Given the description of an element on the screen output the (x, y) to click on. 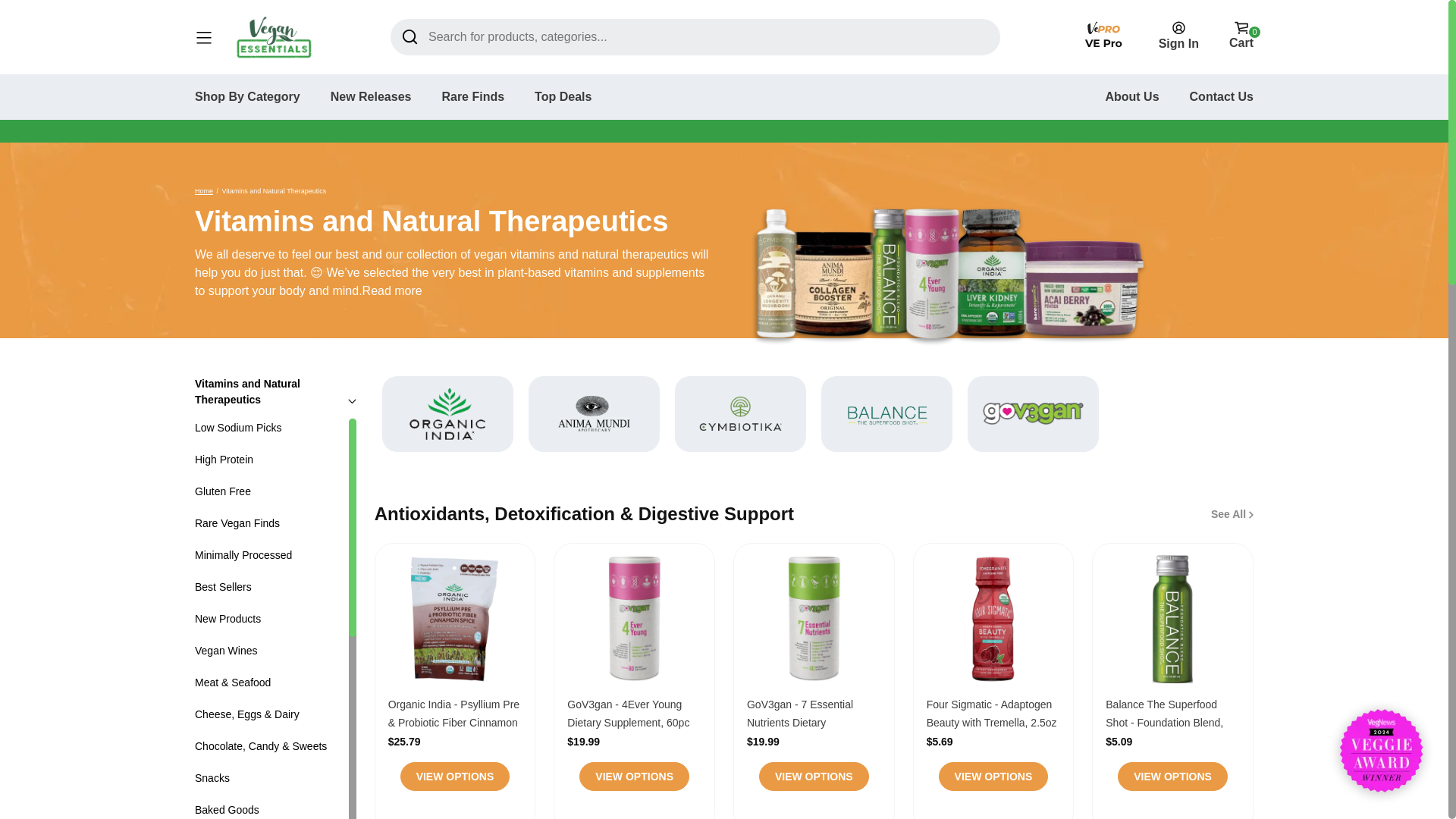
Rare Vegan Finds (237, 522)
Home (203, 190)
About Us (1131, 96)
High Protein (224, 459)
New Releases (371, 96)
Contact Us (1221, 96)
Gluten Free (222, 491)
Minimally Processed (243, 554)
Sign In (1178, 35)
Home (203, 190)
Low Sodium Picks (238, 427)
Shop By Category (247, 96)
Top Deals (562, 96)
Rare Finds (472, 96)
